Given the description of an element on the screen output the (x, y) to click on. 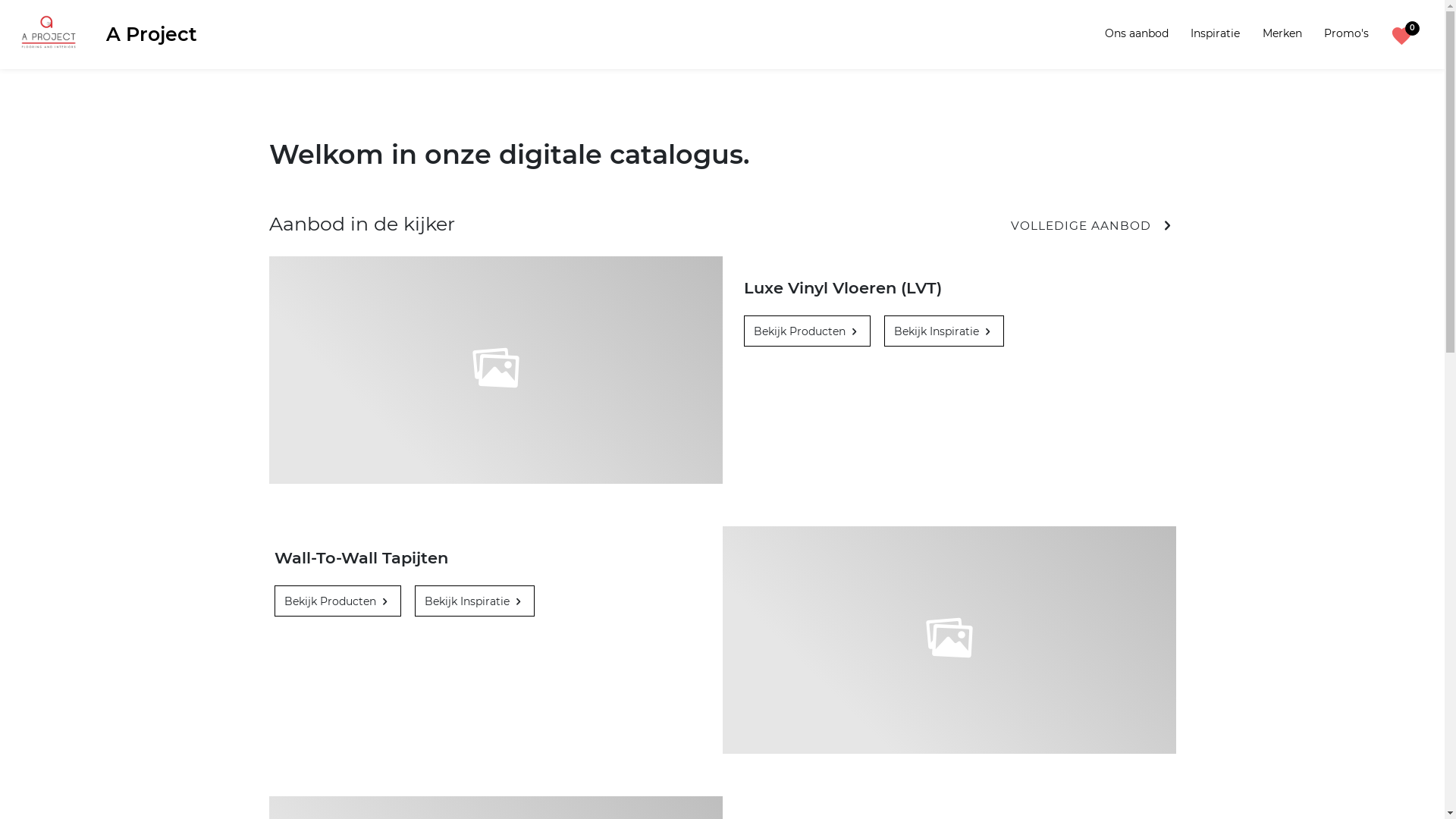
Ons aanbod Element type: text (1136, 33)
A Project Element type: text (102, 34)
Bekijk Inspiratie Element type: text (944, 331)
VOLLEDIGE AANBOD Element type: text (1092, 225)
Bekijk Producten Element type: text (806, 331)
Bekijk Producten Element type: text (337, 601)
Inspiratie Element type: text (1214, 33)
Promo's Element type: text (1346, 33)
Merken Element type: text (1282, 33)
Bekijk Inspiratie Element type: text (474, 601)
